Given the description of an element on the screen output the (x, y) to click on. 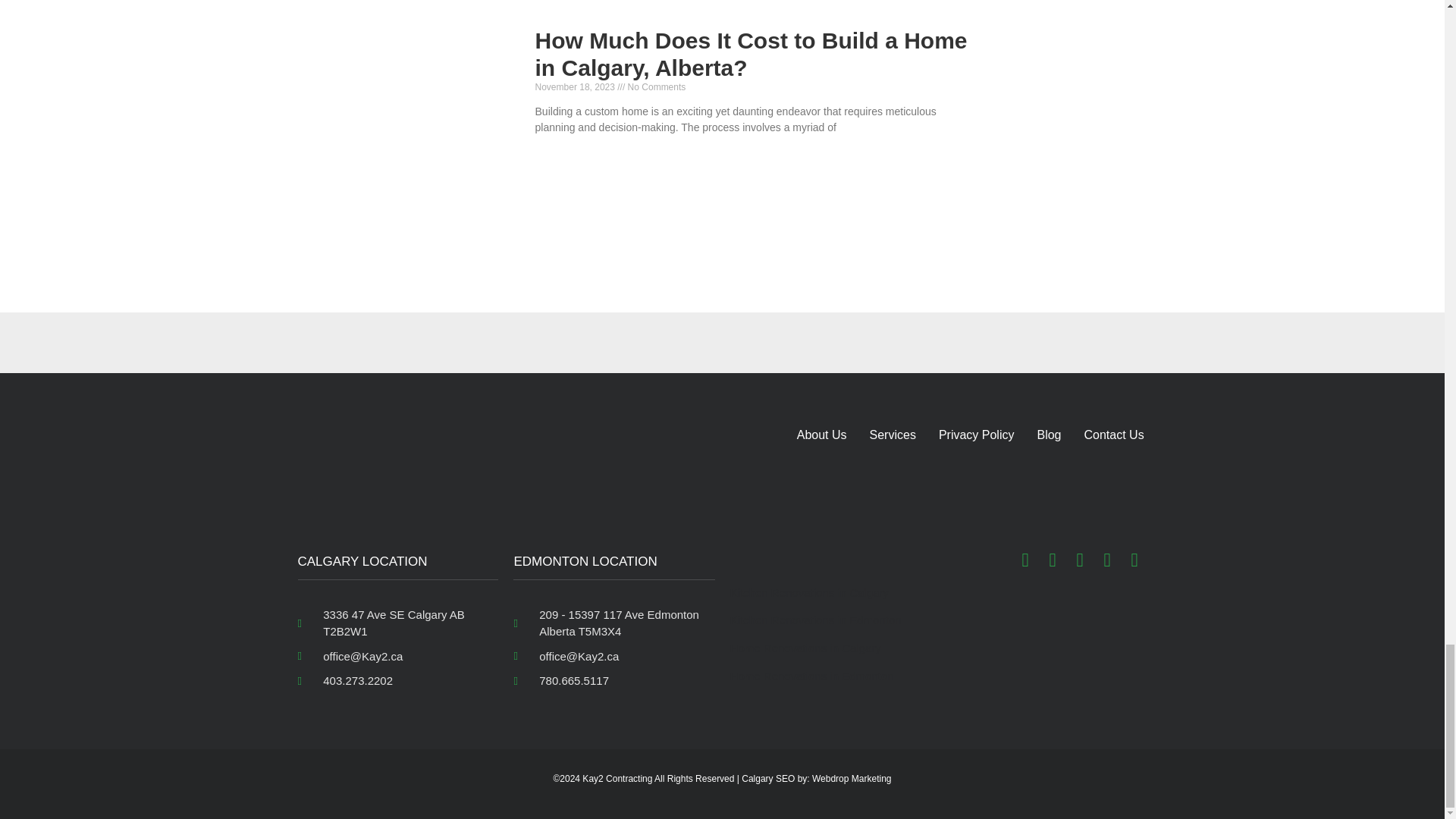
Best Renovation Calgary (353, 482)
Best Renovation Edmonton (570, 482)
